Given the description of an element on the screen output the (x, y) to click on. 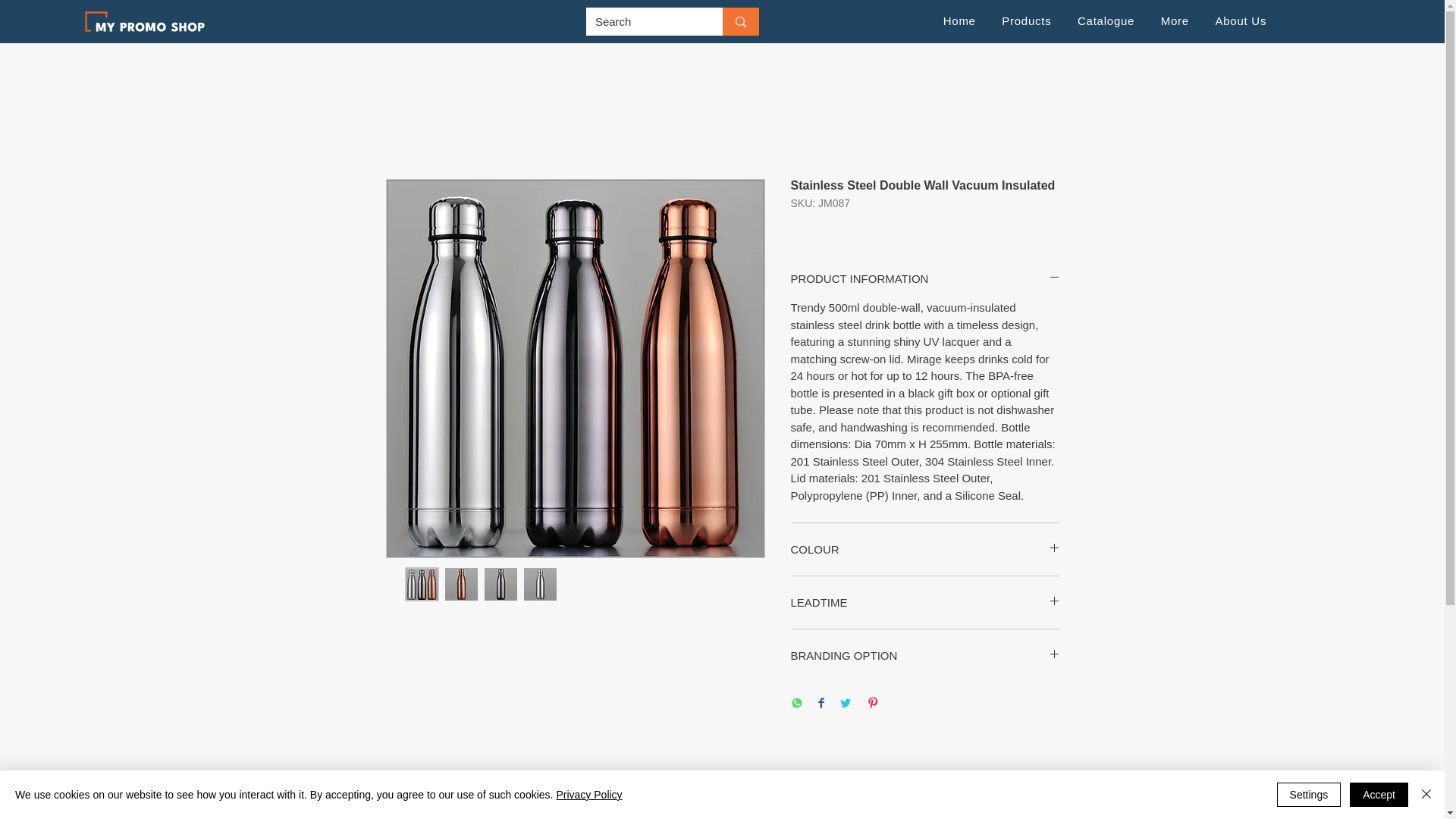
BRANDING OPTION (924, 655)
COLOUR (924, 549)
PRODUCT INFORMATION (924, 278)
Catalogue (1106, 20)
LEADTIME (924, 602)
Products (1026, 20)
Home (959, 20)
About Us (1240, 20)
